Given the description of an element on the screen output the (x, y) to click on. 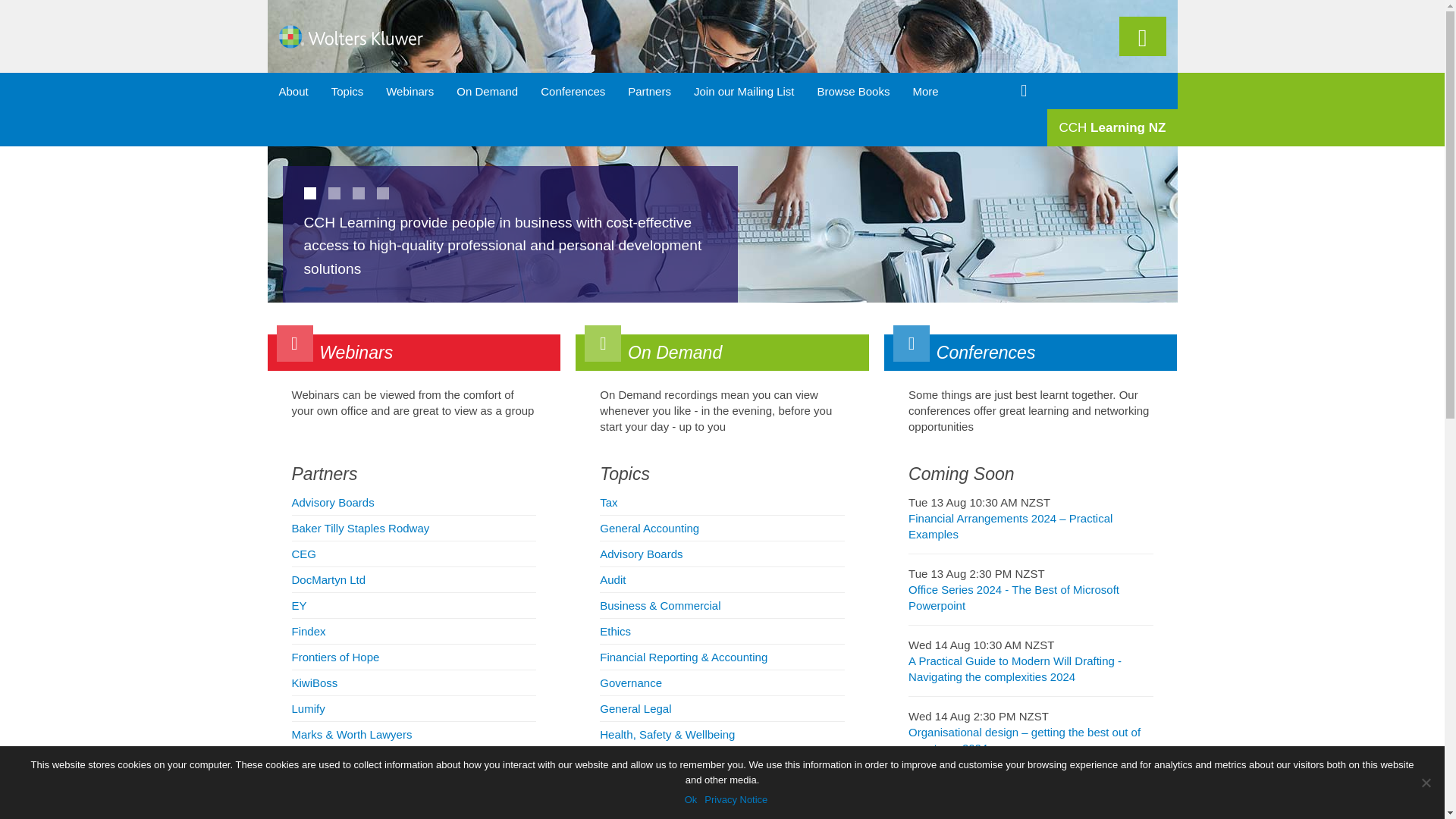
More (925, 90)
Advisory Boards (413, 502)
CEG (413, 553)
Findex (413, 631)
DocMartyn Ltd (413, 579)
Frontiers of Hope (413, 656)
Lumify (413, 708)
Conferences (1029, 352)
